Given the description of an element on the screen output the (x, y) to click on. 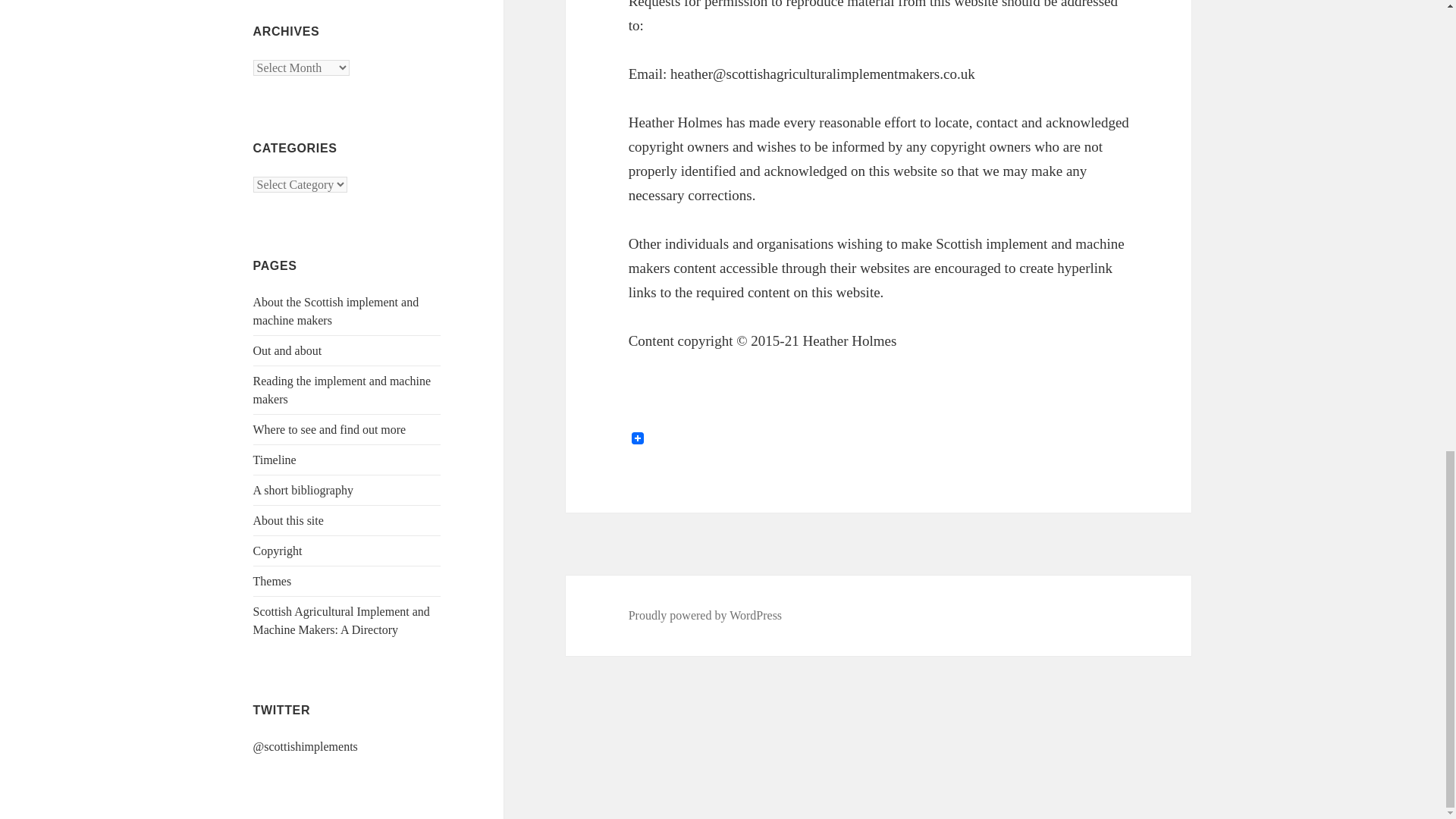
Timeline (275, 459)
Proudly powered by WordPress (704, 615)
Themes (272, 581)
A short bibliography (303, 490)
About the Scottish implement and machine makers (336, 310)
Where to see and find out more (329, 429)
Reading the implement and machine makers (341, 389)
About this site (288, 520)
Copyright (277, 550)
Out and about (287, 350)
